Given the description of an element on the screen output the (x, y) to click on. 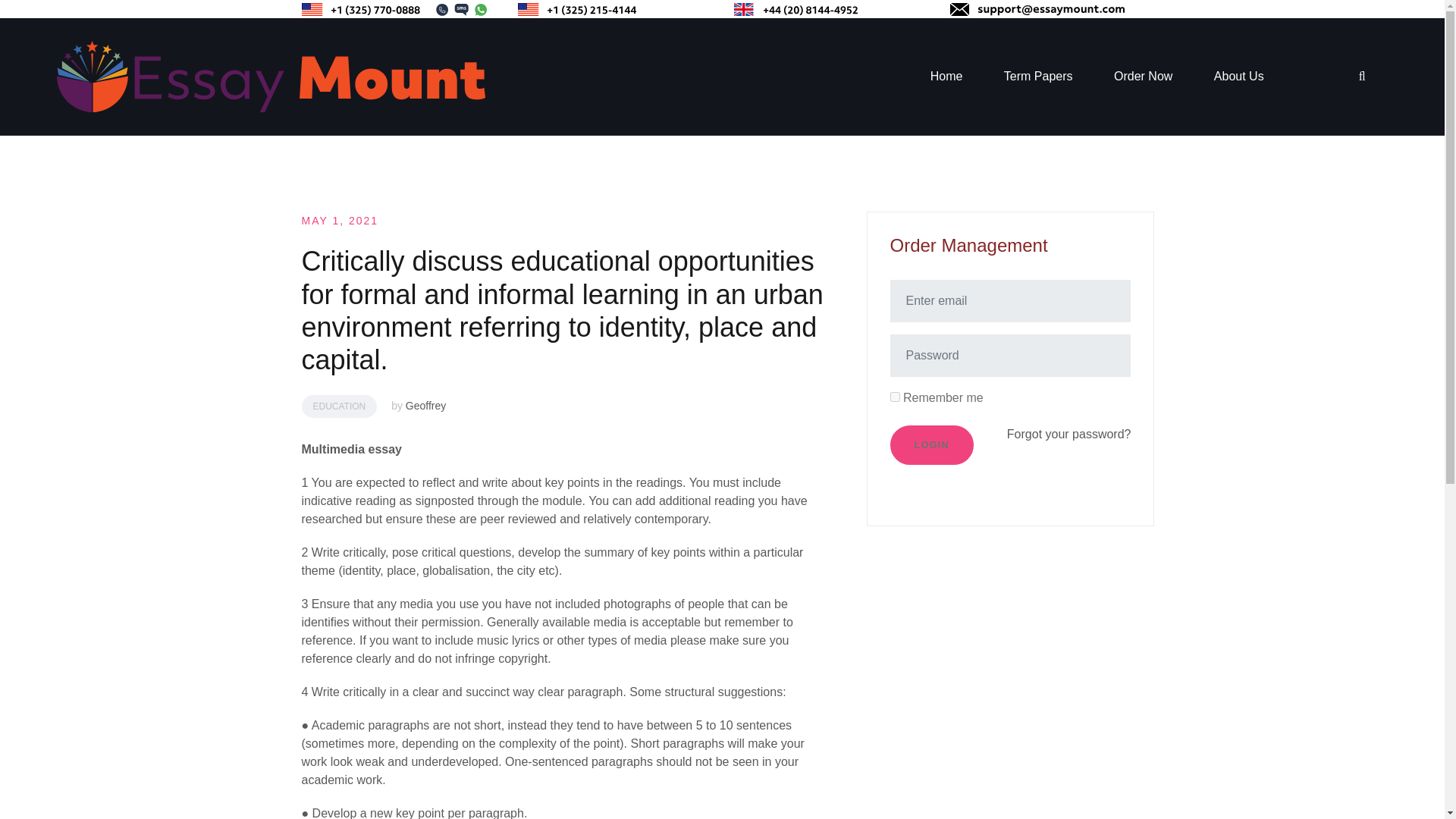
About Us (1238, 76)
Order Now (1142, 76)
LOGIN (931, 445)
EDUCATION (339, 405)
Recover password (1069, 433)
click to Login (931, 445)
Geoffrey (425, 405)
on (894, 397)
Term Papers (1038, 76)
Forgot your password? (1069, 433)
